Given the description of an element on the screen output the (x, y) to click on. 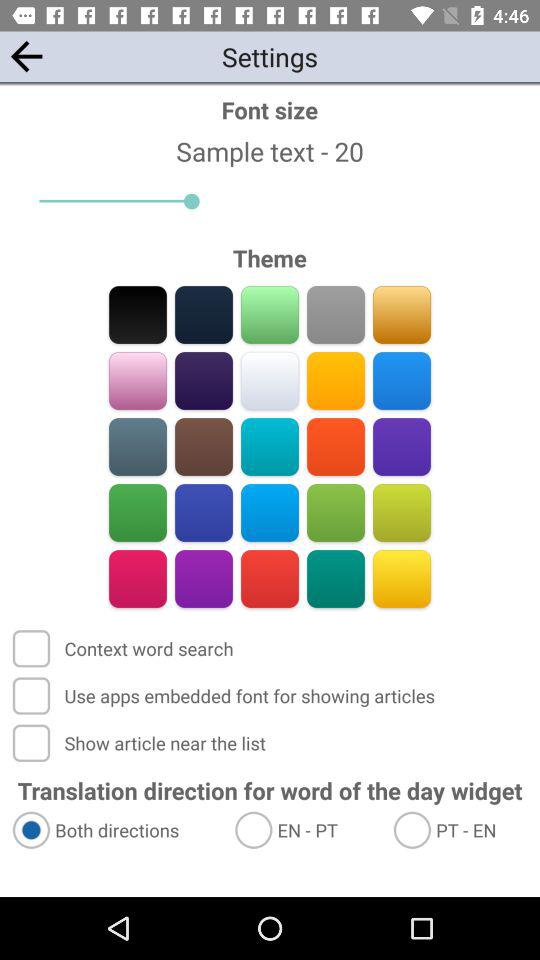
change theme color (137, 512)
